Given the description of an element on the screen output the (x, y) to click on. 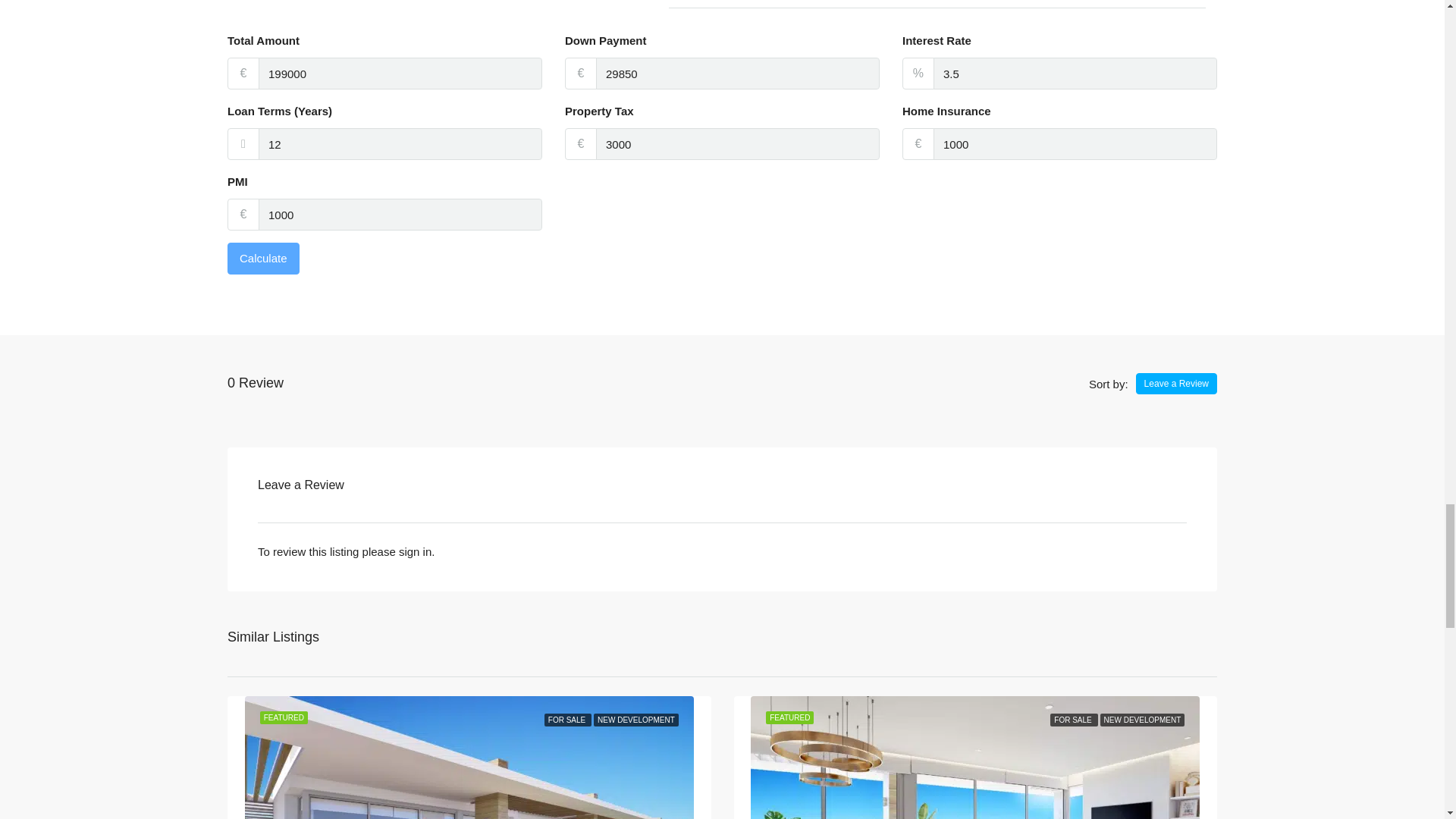
199000 (400, 73)
3.5 (1075, 73)
1000 (400, 214)
3000 (737, 143)
12 (400, 143)
29850 (737, 73)
1000 (1075, 143)
